Given the description of an element on the screen output the (x, y) to click on. 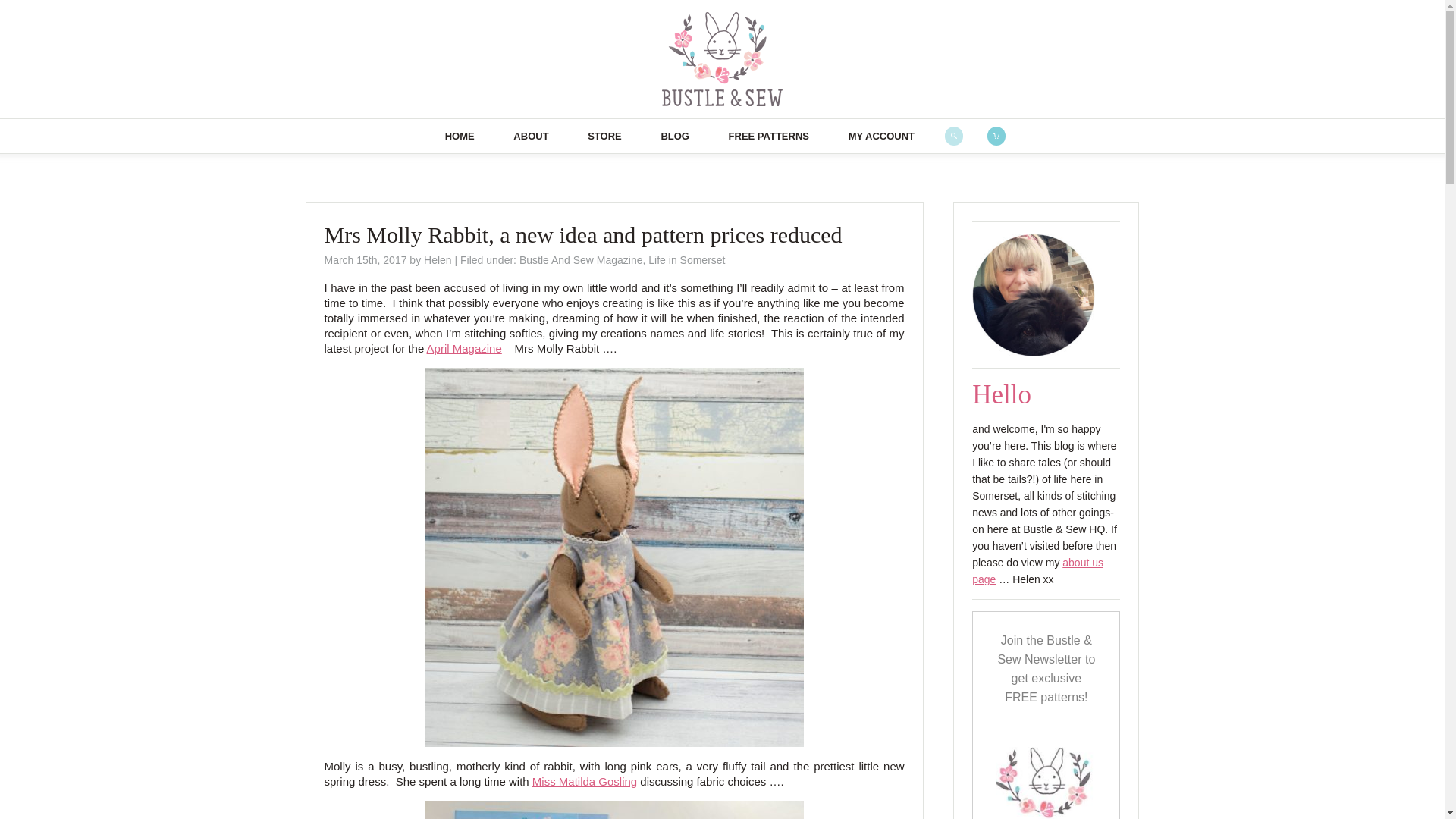
STORE (604, 135)
MY ACCOUNT (880, 135)
BLOG (674, 135)
FREE PATTERNS (768, 135)
Life in Somerset (686, 259)
HOME (459, 135)
ABOUT (530, 135)
Bustle And Sew Magazine (581, 259)
April Magazine (464, 348)
